Given the description of an element on the screen output the (x, y) to click on. 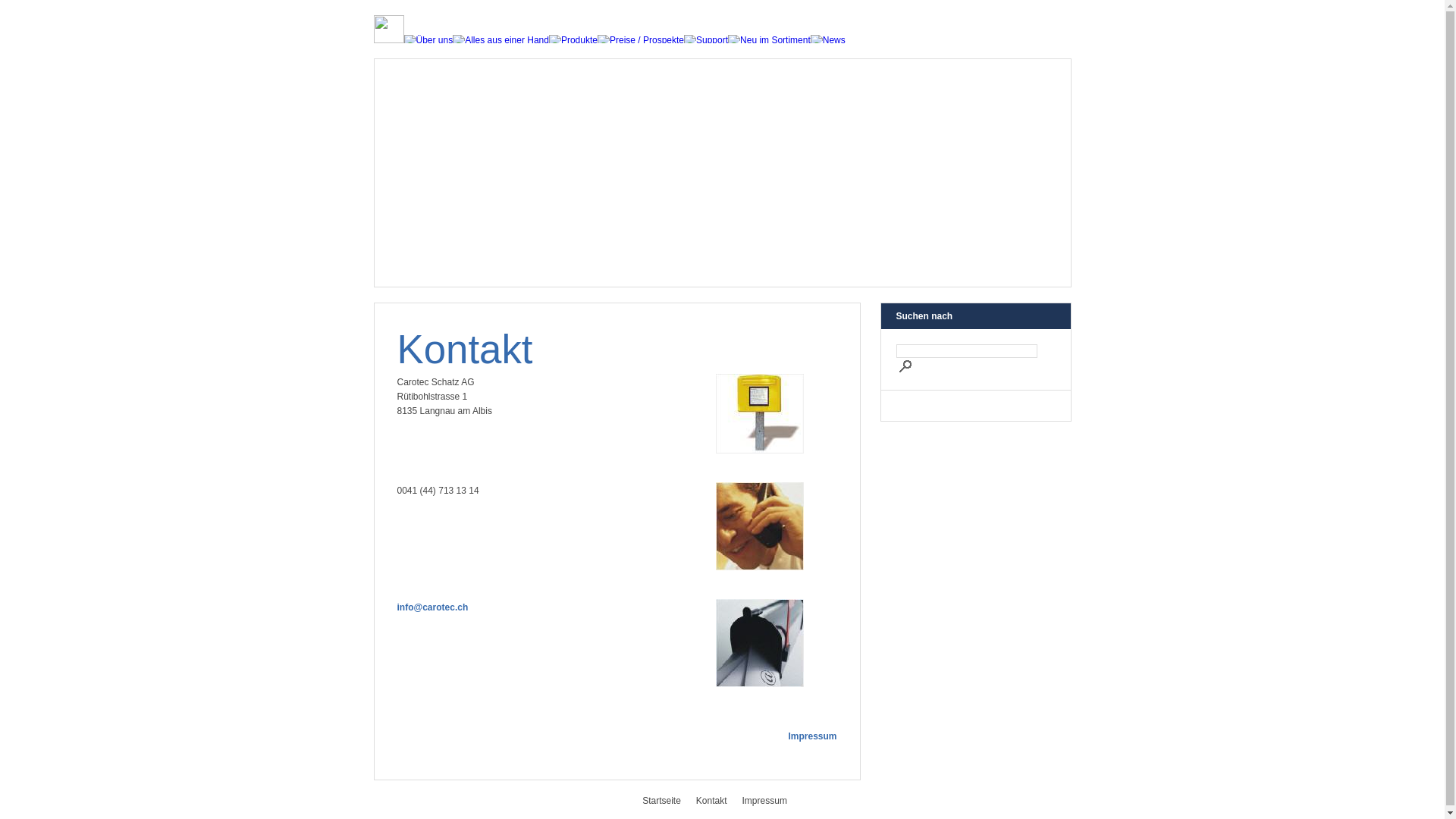
Startseite Element type: text (669, 800)
Kontakt Element type: text (719, 800)
Impressum Element type: text (772, 800)
info@carotec.ch Element type: text (432, 607)
Impressum Element type: text (811, 736)
